Given the description of an element on the screen output the (x, y) to click on. 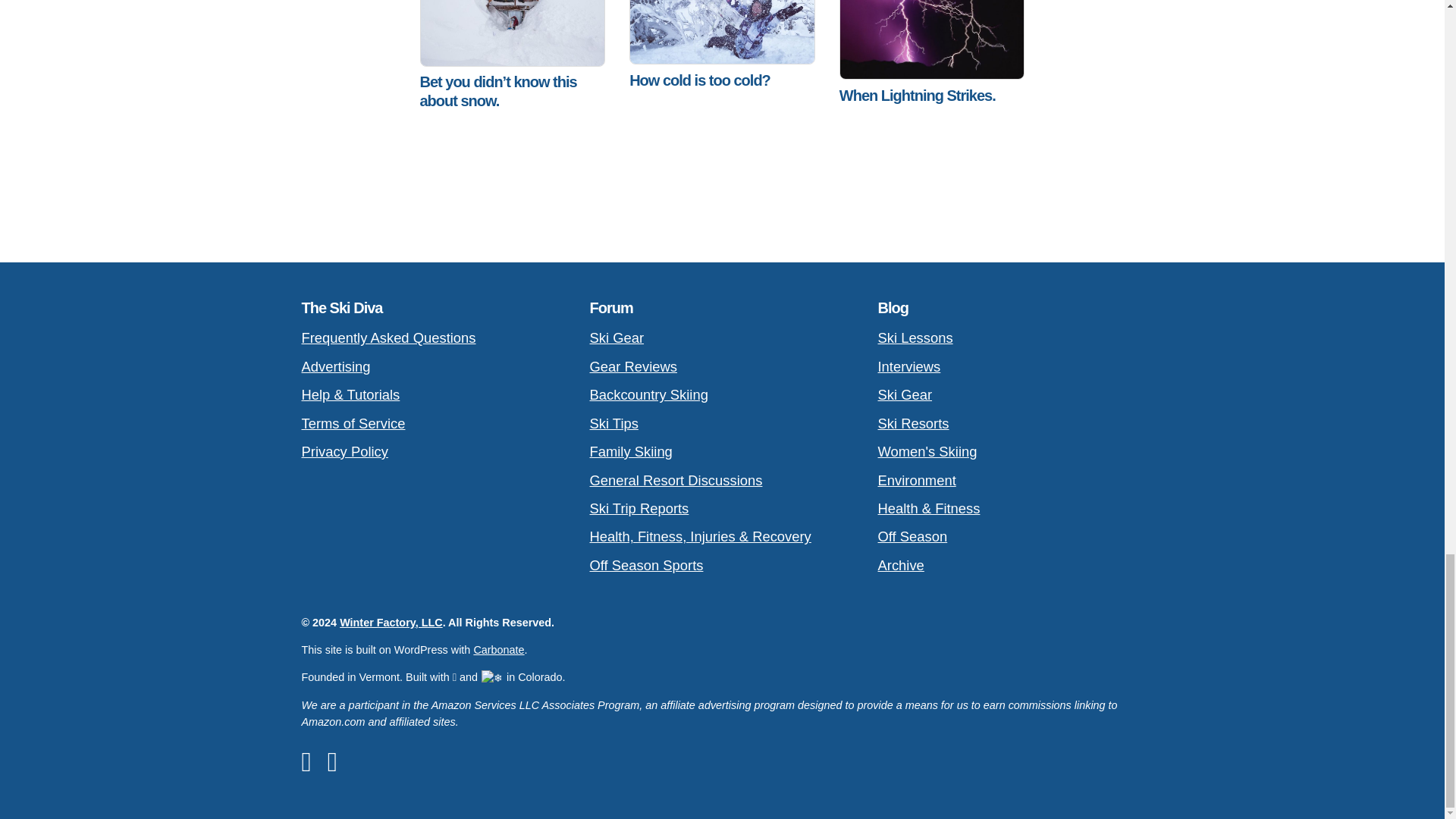
Winter Factory, LLC (390, 622)
Terms of Service (434, 423)
Advertising (434, 366)
How cold is too cold? (721, 59)
Ski Gear (722, 337)
Frequently Asked Questions (434, 337)
Forum (611, 307)
Archive (1009, 565)
Environment (1009, 480)
Ski Tips (722, 423)
